Given the description of an element on the screen output the (x, y) to click on. 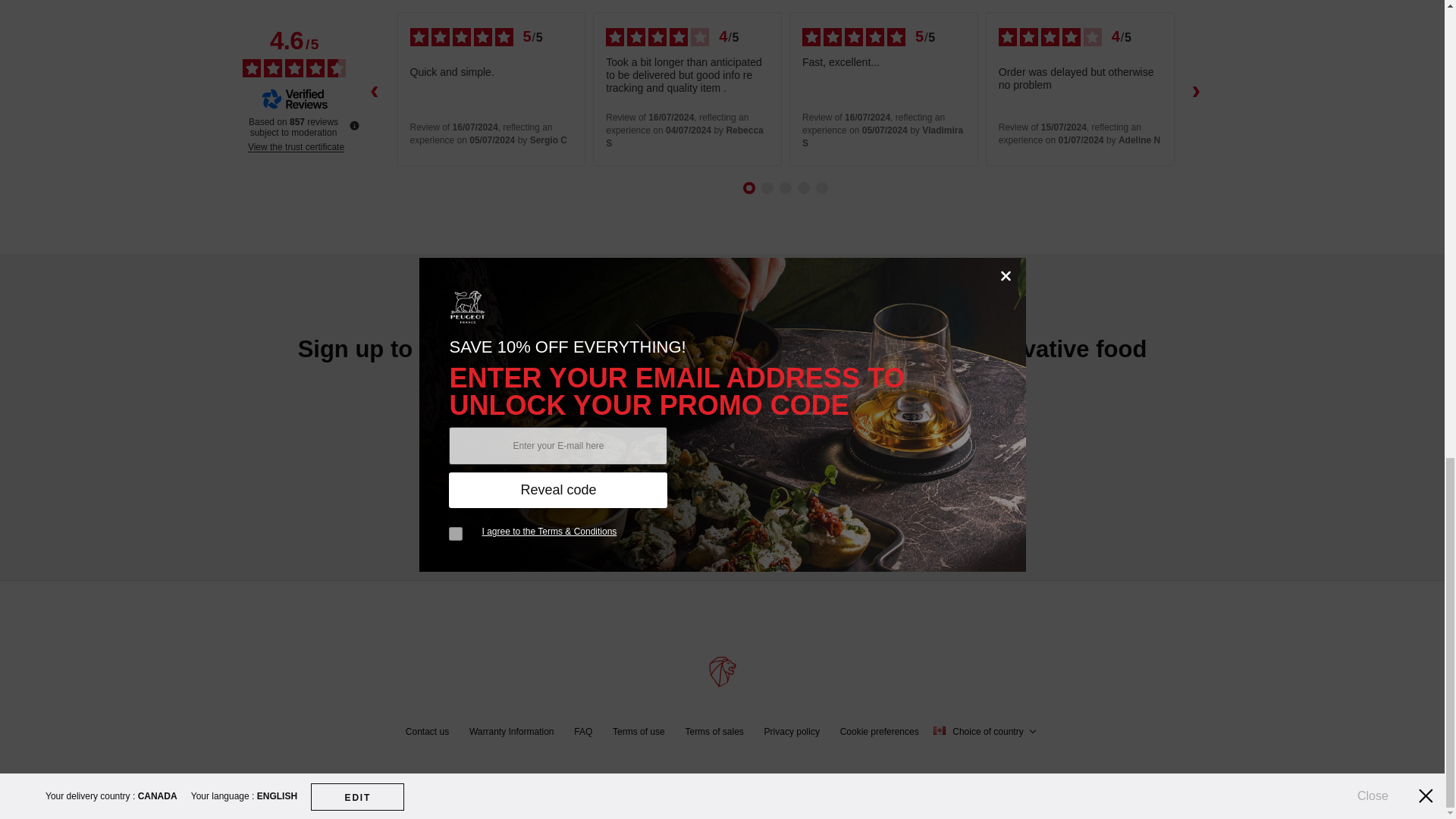
Instagram (748, 524)
YouTube (802, 524)
Submit (862, 416)
Facebook (642, 524)
Pinterest (695, 524)
